Given the description of an element on the screen output the (x, y) to click on. 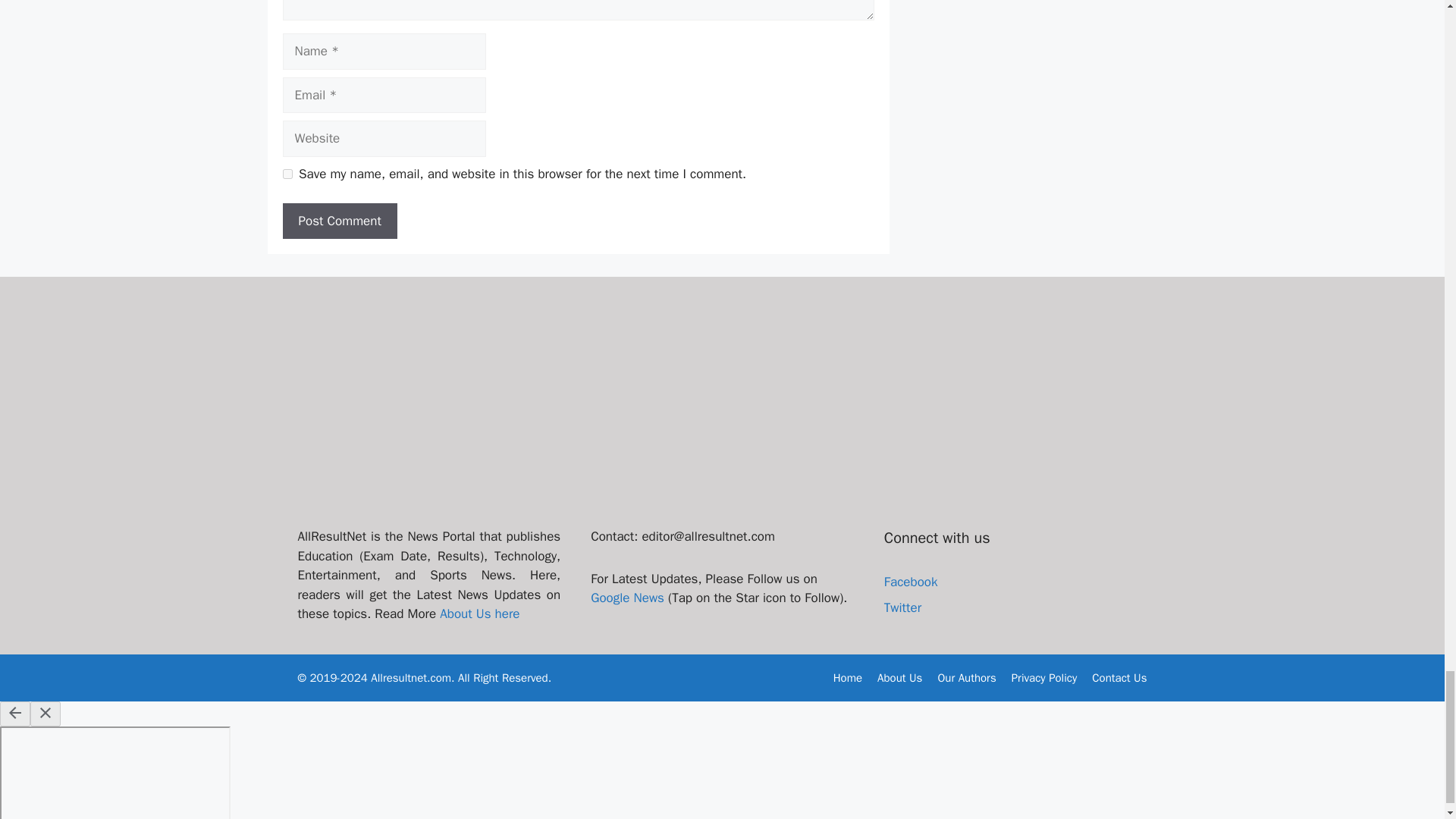
Post Comment (339, 221)
Post Comment (339, 221)
yes (287, 173)
